Given the description of an element on the screen output the (x, y) to click on. 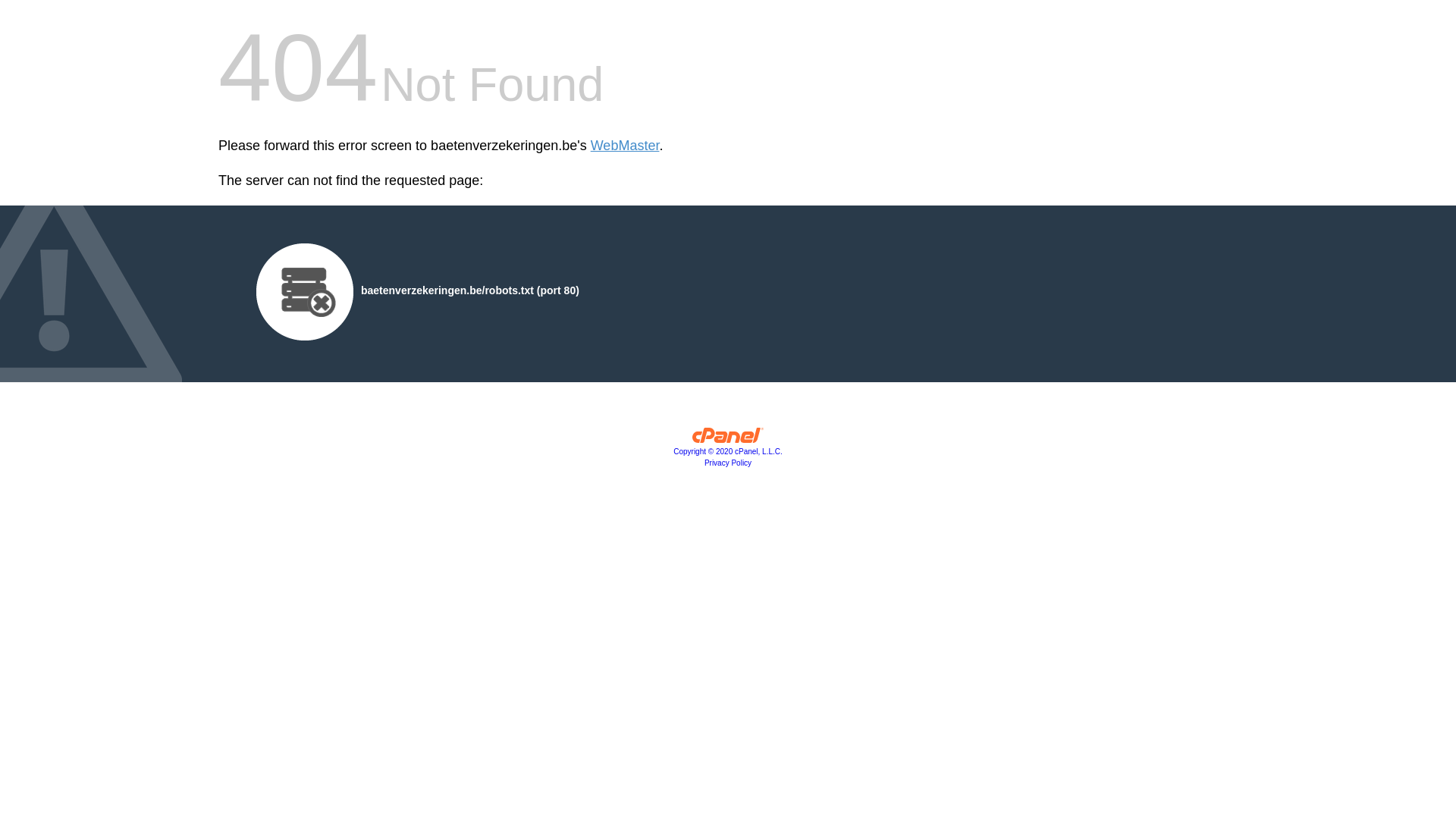
WebMaster Element type: text (624, 145)
cPanel, Inc. Element type: hover (728, 439)
Privacy Policy Element type: text (727, 462)
